Given the description of an element on the screen output the (x, y) to click on. 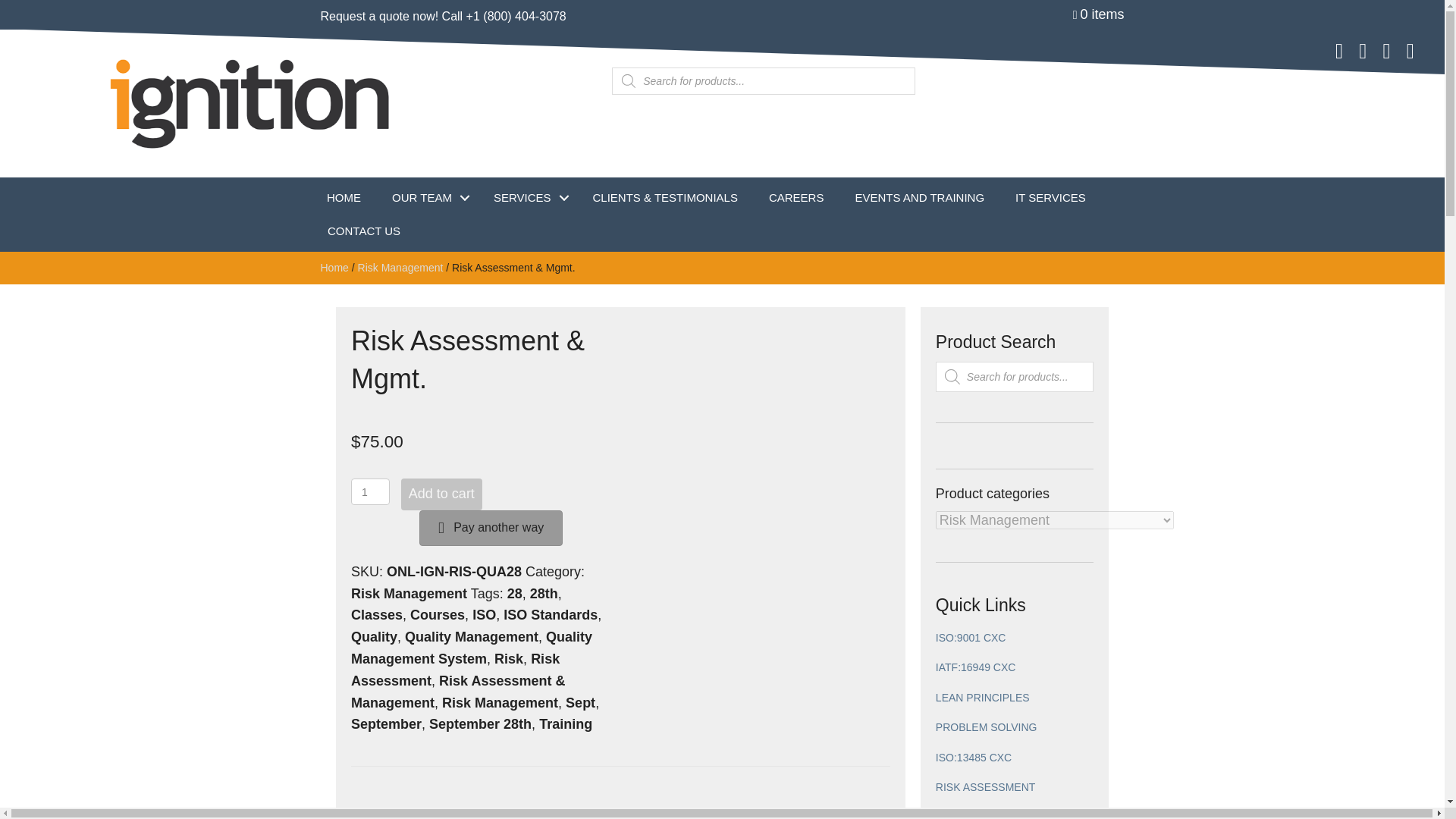
1 (370, 491)
EVENTS AND TRAINING (919, 197)
Quality Management (471, 636)
Risk Assessment (454, 669)
Risk Management (499, 702)
HOME (343, 197)
SERVICES (527, 197)
ISO Standards (549, 614)
OUR TEAM (427, 197)
Risk Management (401, 267)
CAREERS (797, 197)
Quality Management System (471, 647)
28th (543, 593)
Pay another way (490, 528)
Classes (376, 614)
